Given the description of an element on the screen output the (x, y) to click on. 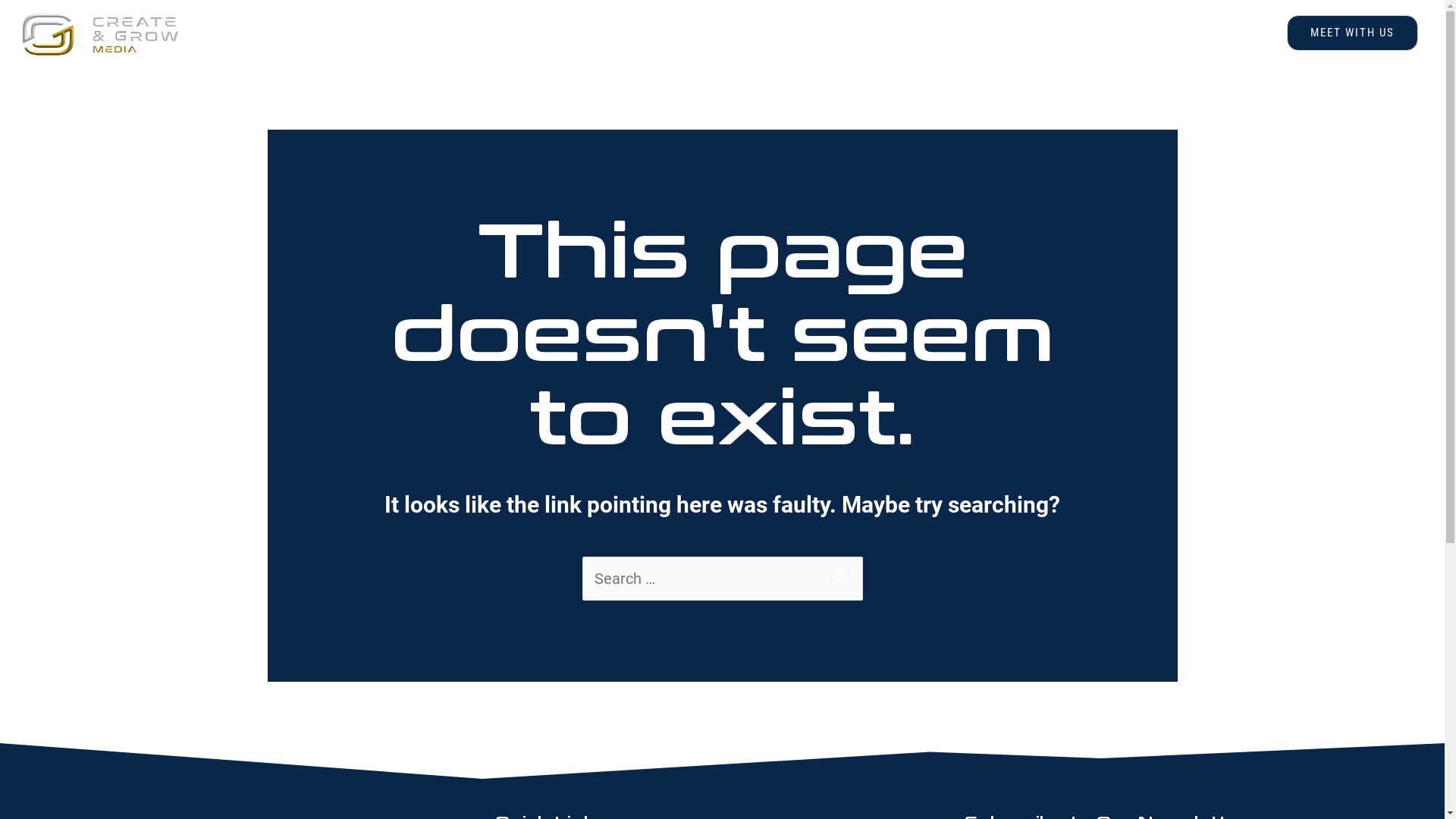
About Element type: text (328, 34)
Portfolio Element type: text (570, 34)
Contact Element type: text (684, 34)
Home Element type: text (239, 34)
MEET WITH US Element type: text (1352, 32)
Search Element type: text (845, 571)
Services Element type: text (443, 34)
